Given the description of an element on the screen output the (x, y) to click on. 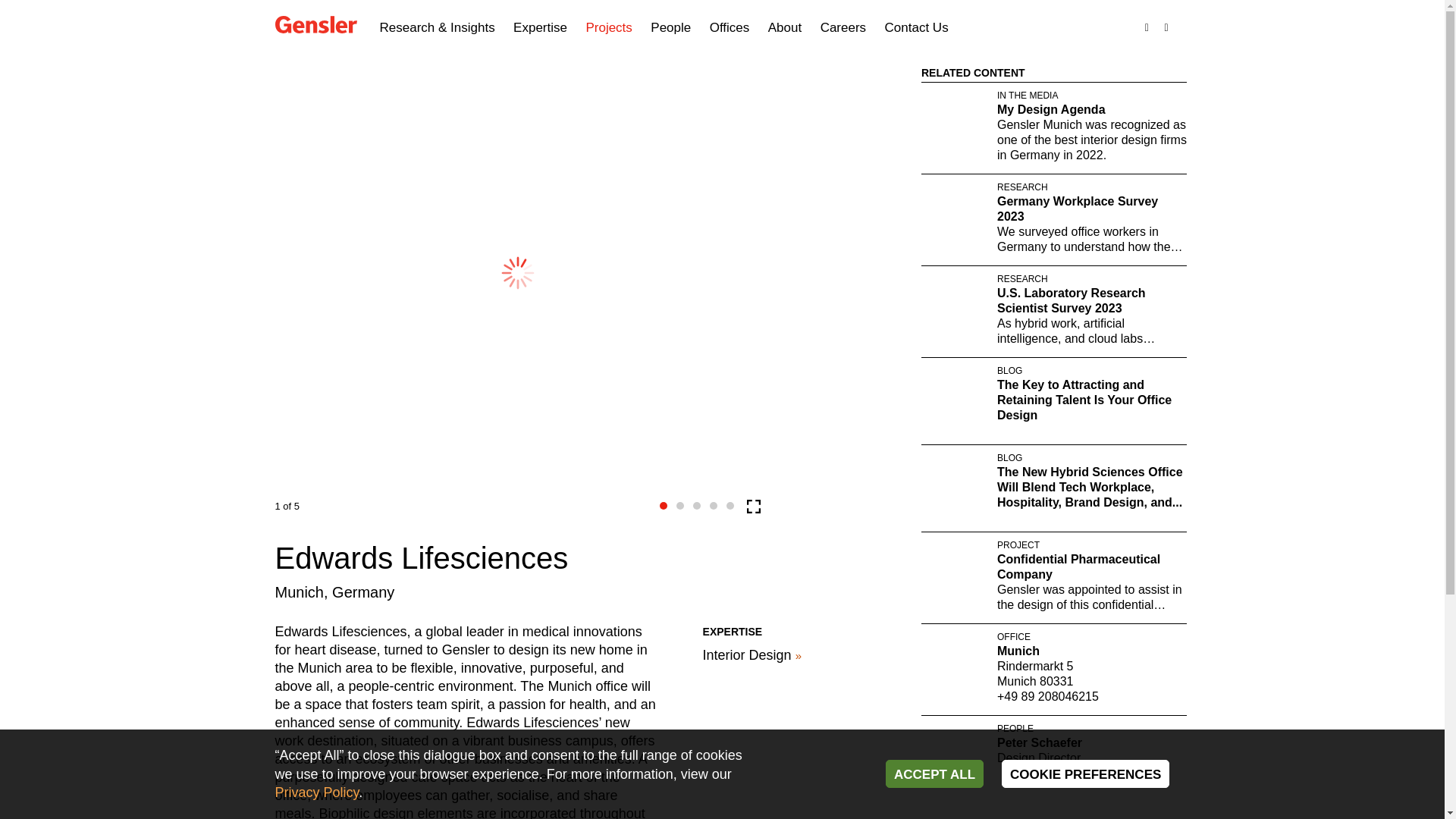
Gensler (315, 25)
Expertise (540, 28)
Gensler (315, 24)
